Given the description of an element on the screen output the (x, y) to click on. 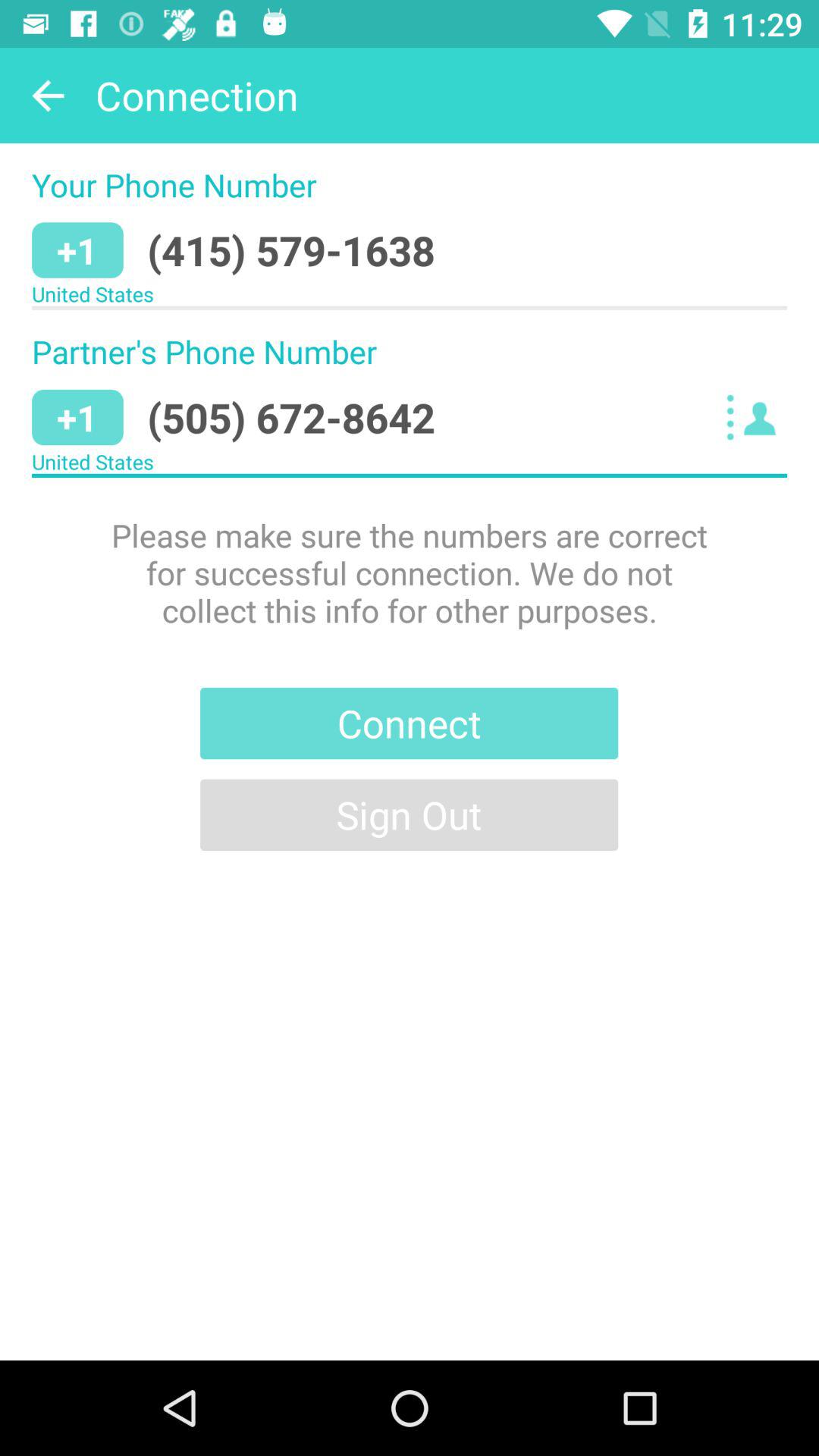
turn off item next to the (505) 672-8642 item (755, 417)
